Given the description of an element on the screen output the (x, y) to click on. 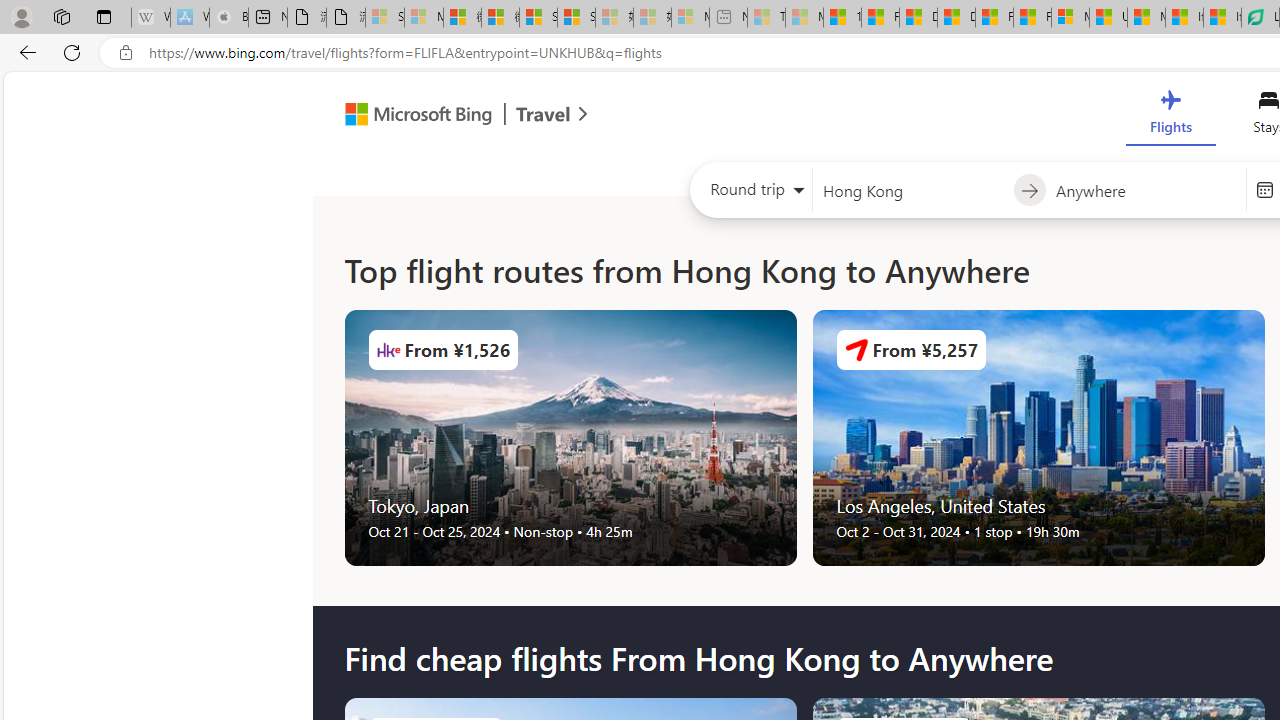
Microsoft Bing (410, 116)
Sign in to your Microsoft account - Sleeping (385, 17)
Microsoft account | Account Checkup - Sleeping (690, 17)
Class: autosuggest-container full-height no-y-padding (1145, 190)
Going to? (1145, 190)
Class: msft-bing-logo msft-bing-logo-desktop (413, 114)
